Given the description of an element on the screen output the (x, y) to click on. 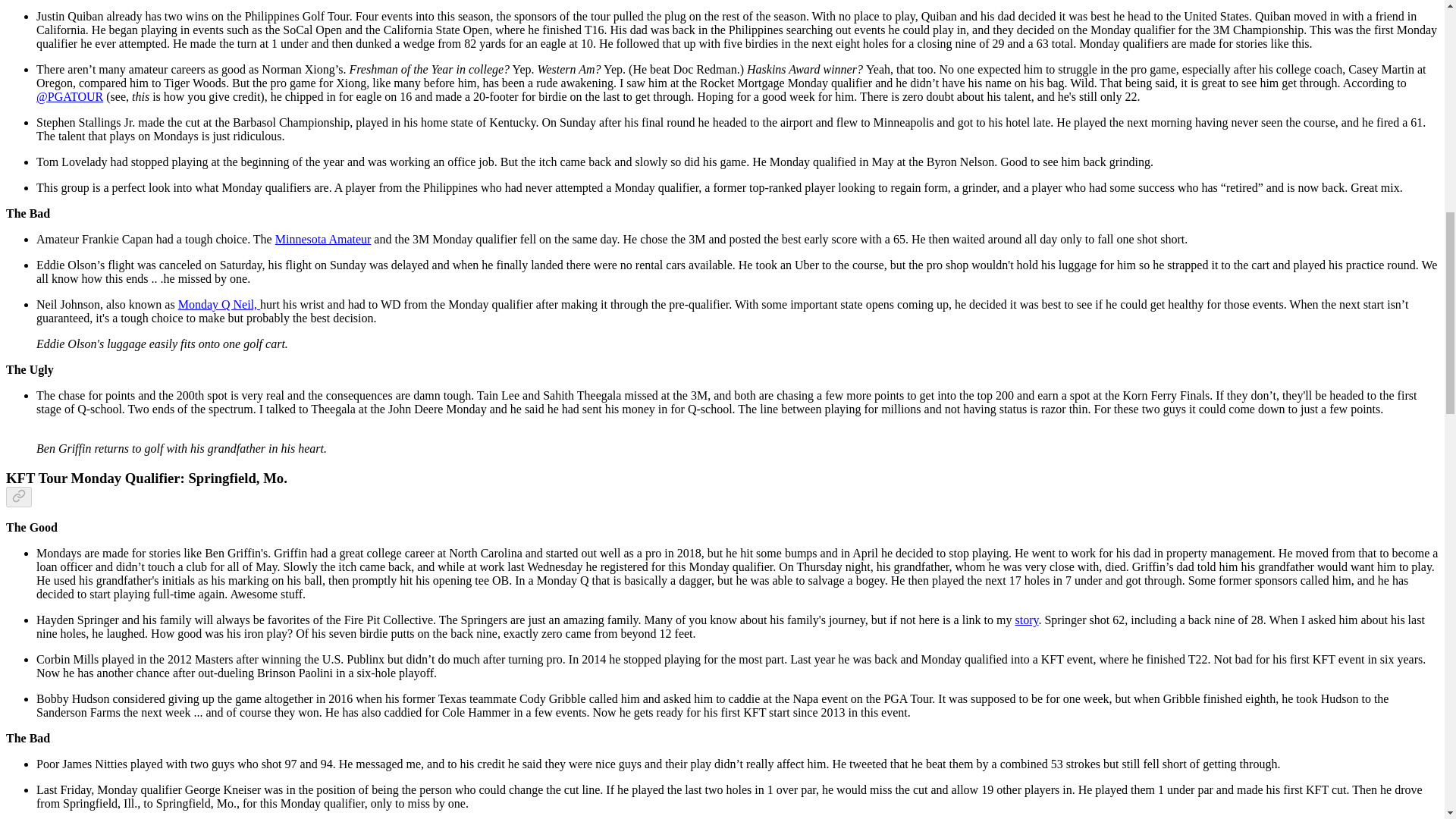
Minnesota Amateur (323, 238)
story (1026, 619)
Monday Q Neil, (218, 304)
